Given the description of an element on the screen output the (x, y) to click on. 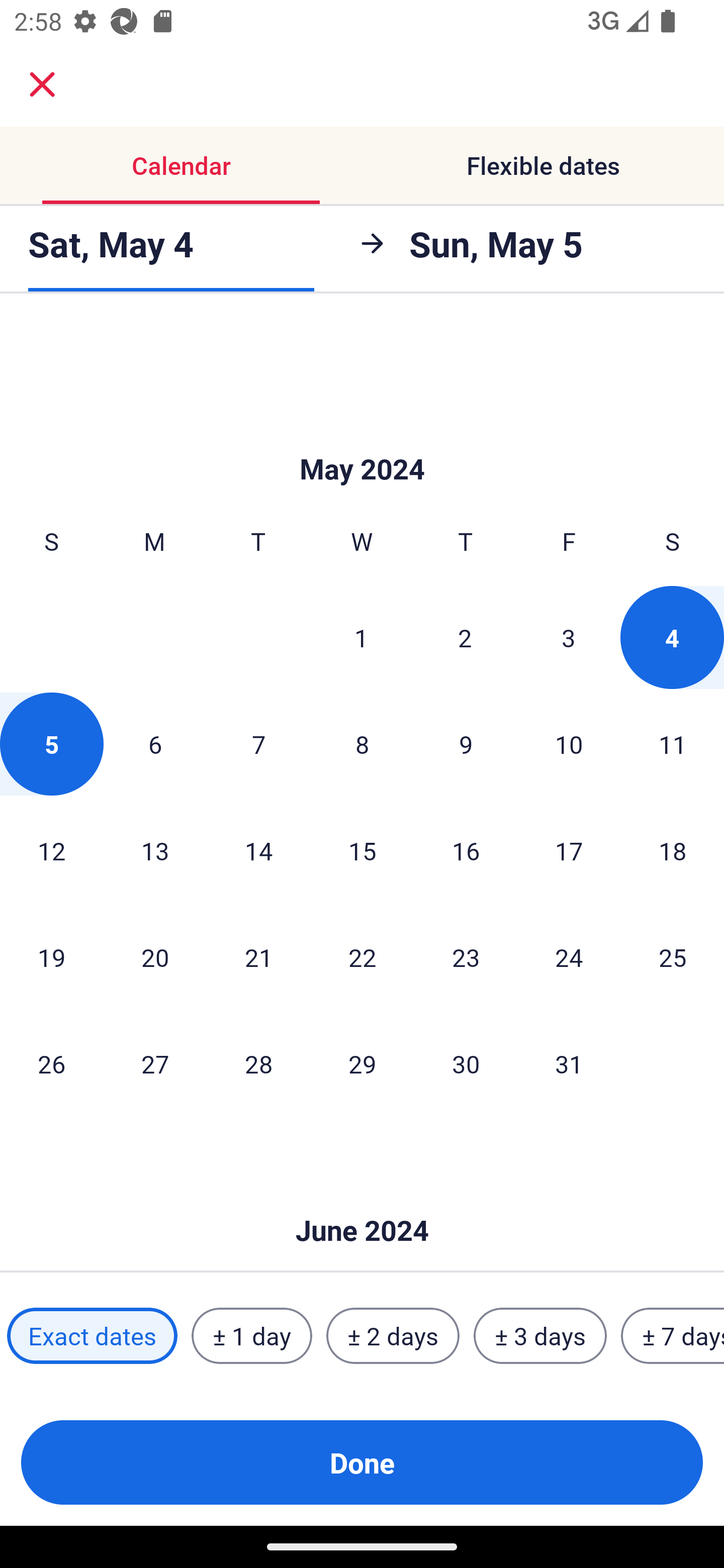
close. (42, 84)
Flexible dates (542, 164)
Skip to Done (362, 438)
1 Wednesday, May 1, 2024 (361, 637)
2 Thursday, May 2, 2024 (464, 637)
3 Friday, May 3, 2024 (568, 637)
6 Monday, May 6, 2024 (155, 743)
7 Tuesday, May 7, 2024 (258, 743)
8 Wednesday, May 8, 2024 (362, 743)
9 Thursday, May 9, 2024 (465, 743)
10 Friday, May 10, 2024 (569, 743)
11 Saturday, May 11, 2024 (672, 743)
12 Sunday, May 12, 2024 (51, 850)
13 Monday, May 13, 2024 (155, 850)
14 Tuesday, May 14, 2024 (258, 850)
15 Wednesday, May 15, 2024 (362, 850)
16 Thursday, May 16, 2024 (465, 850)
17 Friday, May 17, 2024 (569, 850)
18 Saturday, May 18, 2024 (672, 850)
19 Sunday, May 19, 2024 (51, 957)
20 Monday, May 20, 2024 (155, 957)
21 Tuesday, May 21, 2024 (258, 957)
22 Wednesday, May 22, 2024 (362, 957)
23 Thursday, May 23, 2024 (465, 957)
24 Friday, May 24, 2024 (569, 957)
25 Saturday, May 25, 2024 (672, 957)
26 Sunday, May 26, 2024 (51, 1063)
27 Monday, May 27, 2024 (155, 1063)
28 Tuesday, May 28, 2024 (258, 1063)
29 Wednesday, May 29, 2024 (362, 1063)
30 Thursday, May 30, 2024 (465, 1063)
31 Friday, May 31, 2024 (569, 1063)
Skip to Done (362, 1200)
Exact dates (92, 1335)
± 1 day (251, 1335)
± 2 days (392, 1335)
± 3 days (539, 1335)
± 7 days (672, 1335)
Done (361, 1462)
